Given the description of an element on the screen output the (x, y) to click on. 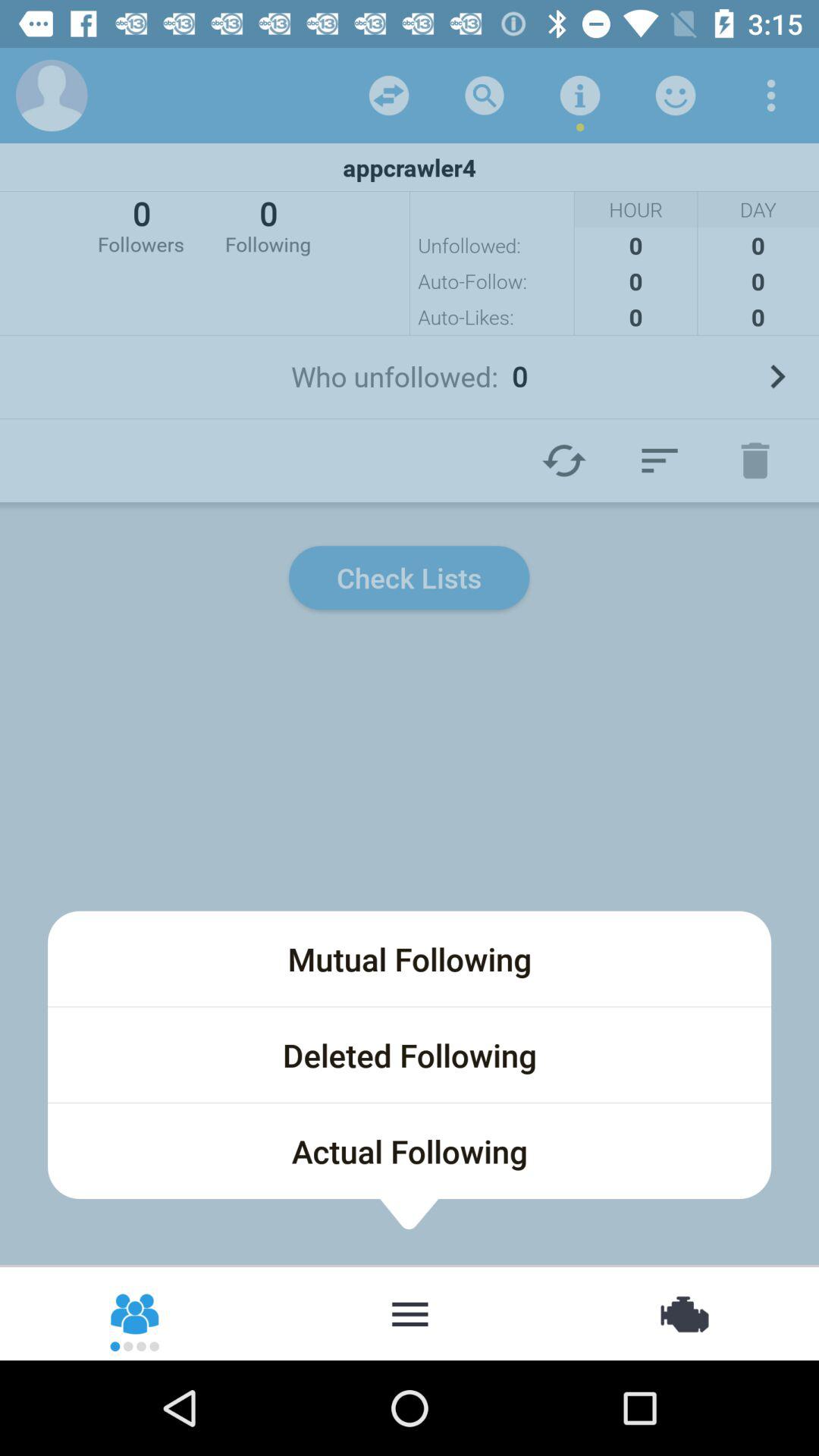
a refresh arrow to refresh a page (563, 460)
